Given the description of an element on the screen output the (x, y) to click on. 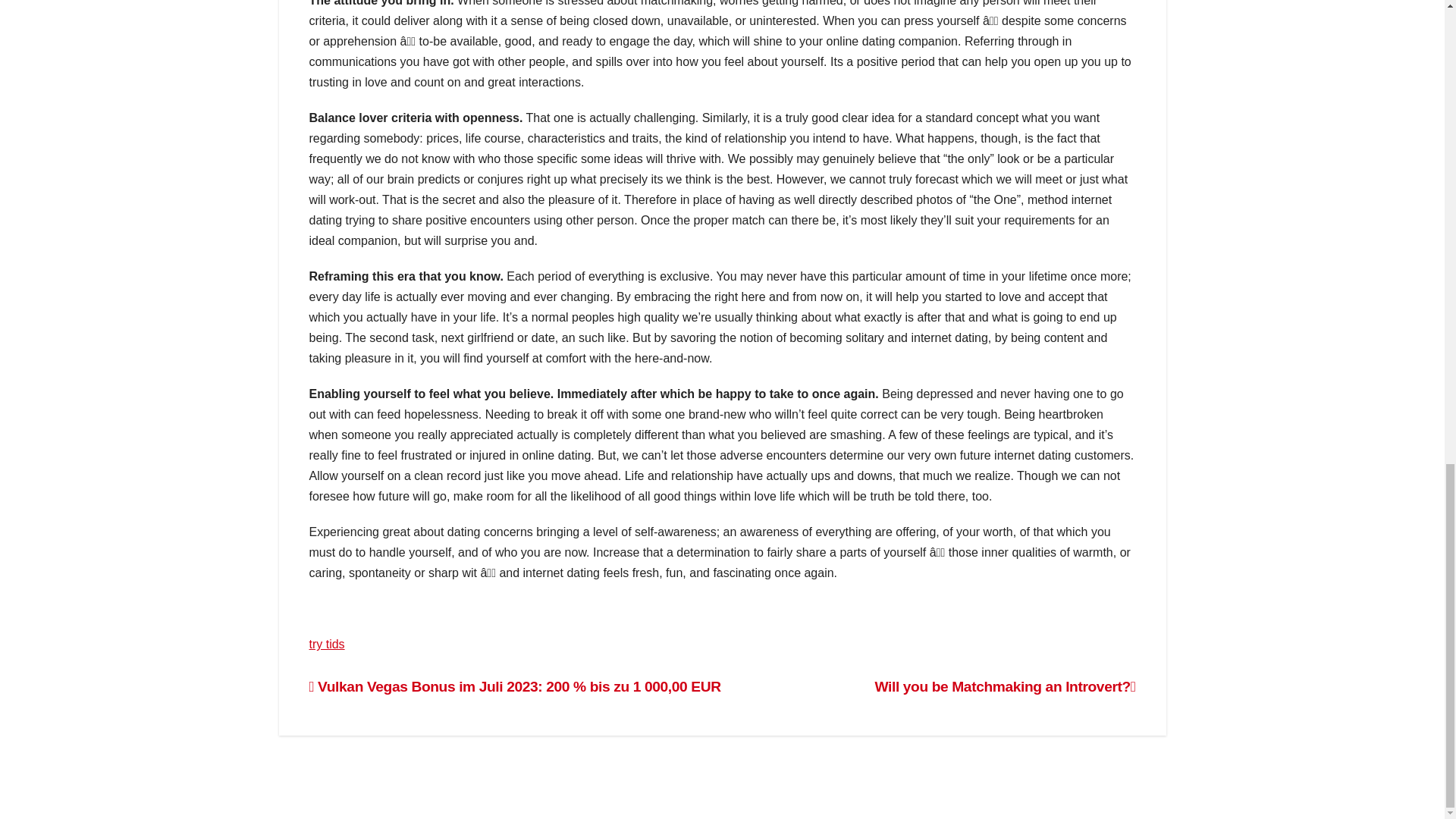
Will you be Matchmaking an Introvert? (1005, 686)
try tids (326, 644)
